Given the description of an element on the screen output the (x, y) to click on. 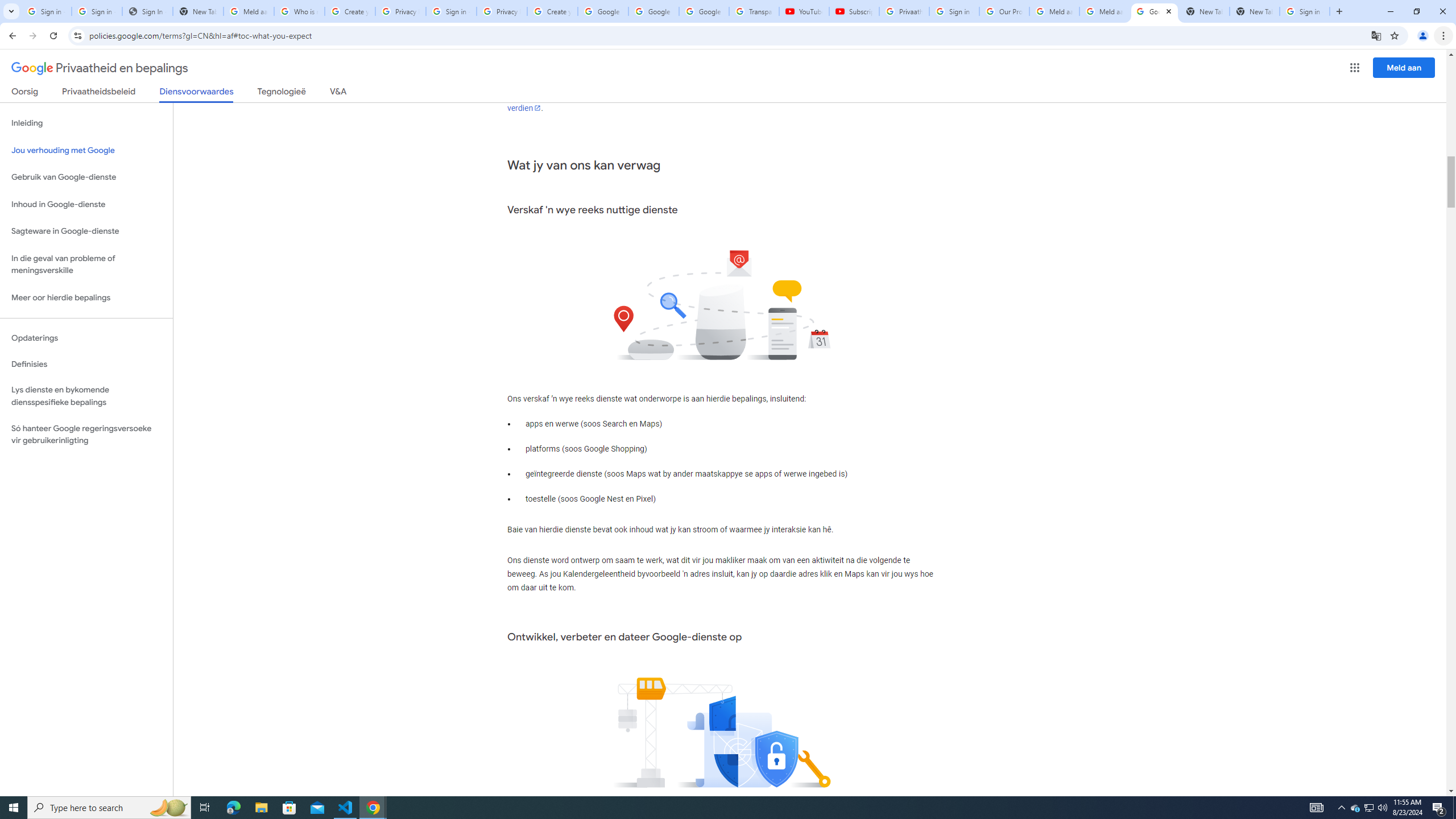
Subscriptions - YouTube (853, 11)
In die geval van probleme of meningsverskille (86, 264)
Jou verhouding met Google (86, 150)
Privaatheidsbeleid (98, 93)
Create your Google Account (350, 11)
